Given the description of an element on the screen output the (x, y) to click on. 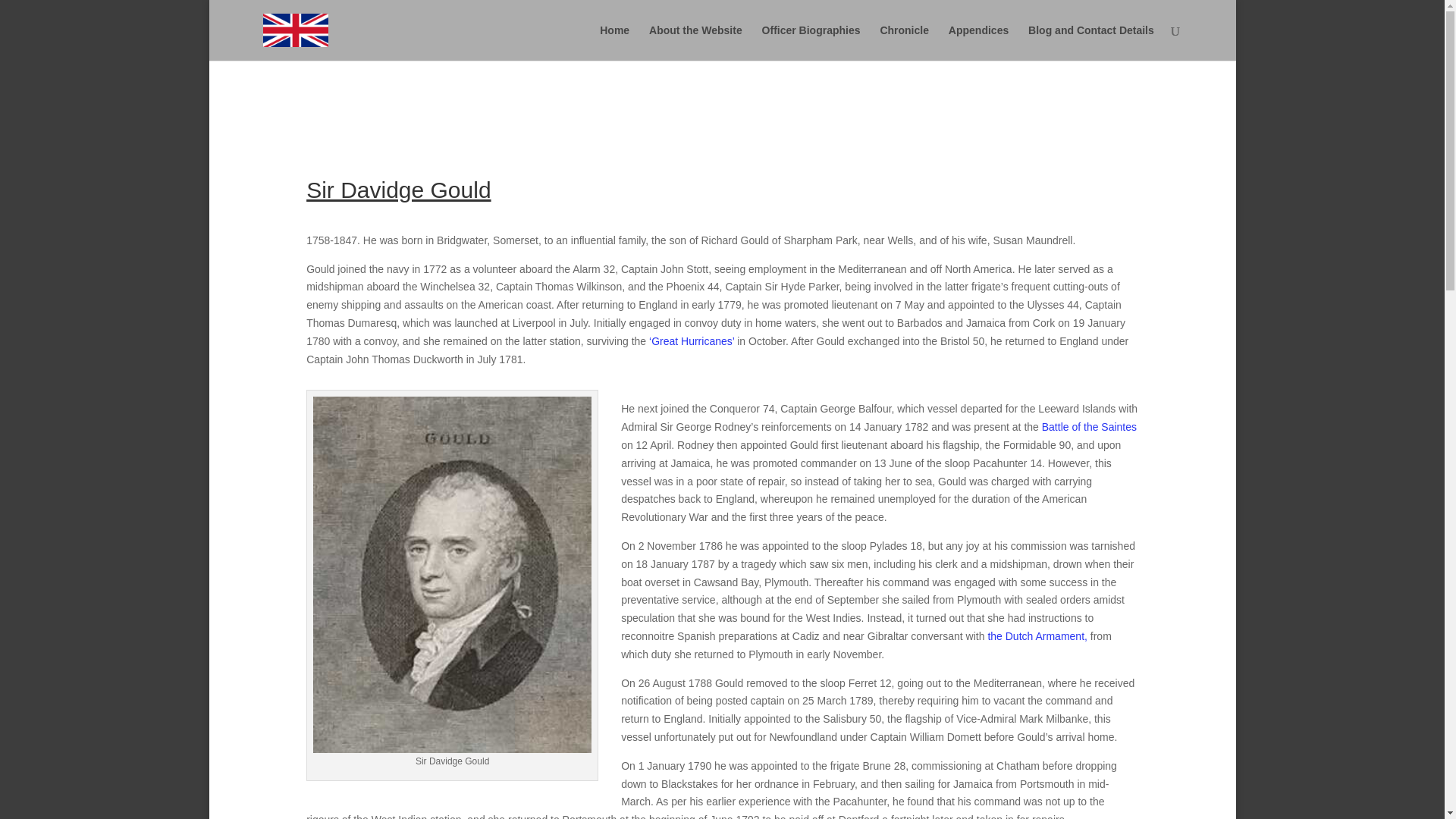
About the Website (695, 42)
Officer Biographies (810, 42)
the Dutch Armament, (1037, 635)
Chronicle (903, 42)
Appendices (979, 42)
Battle of the Saintes (1089, 426)
Blog and Contact Details (1090, 42)
